Given the description of an element on the screen output the (x, y) to click on. 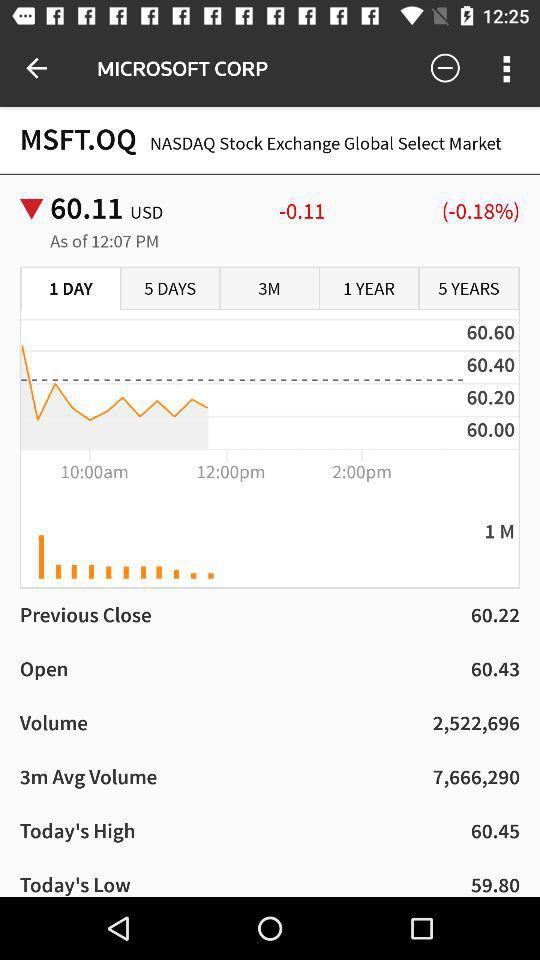
flip to the 1 day item (71, 289)
